Given the description of an element on the screen output the (x, y) to click on. 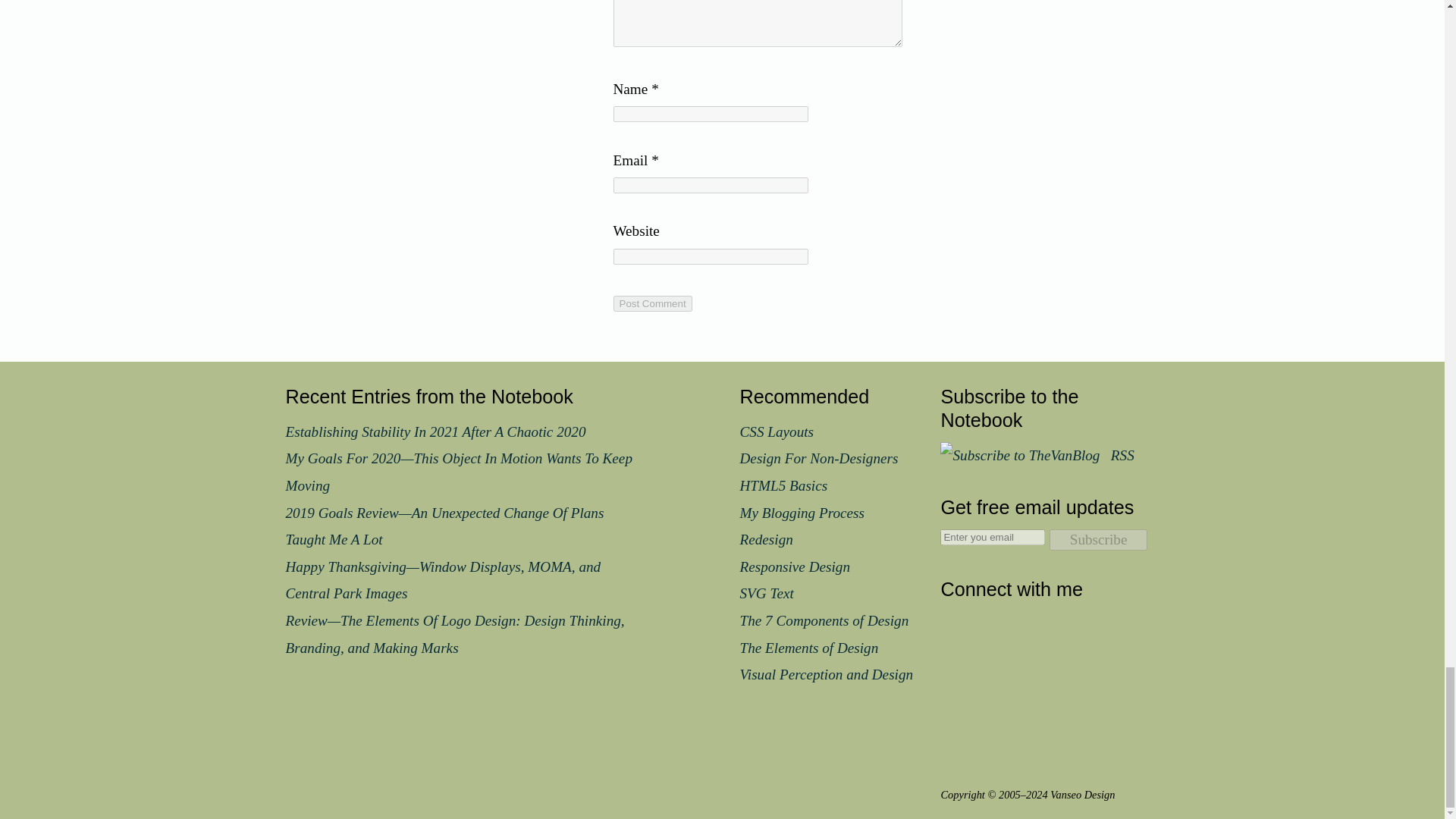
My Blogging Process (801, 512)
Design For Non-Designers (818, 458)
Look Establishing Stability In 2021 After A Chaotic 2020 (435, 431)
The 7 Components of Design (823, 620)
Subscribe (1098, 539)
Responsive Design (794, 566)
Redesign (766, 539)
HTML5 Basics (783, 485)
Post Comment (651, 303)
CSS Layouts (776, 431)
